Given the description of an element on the screen output the (x, y) to click on. 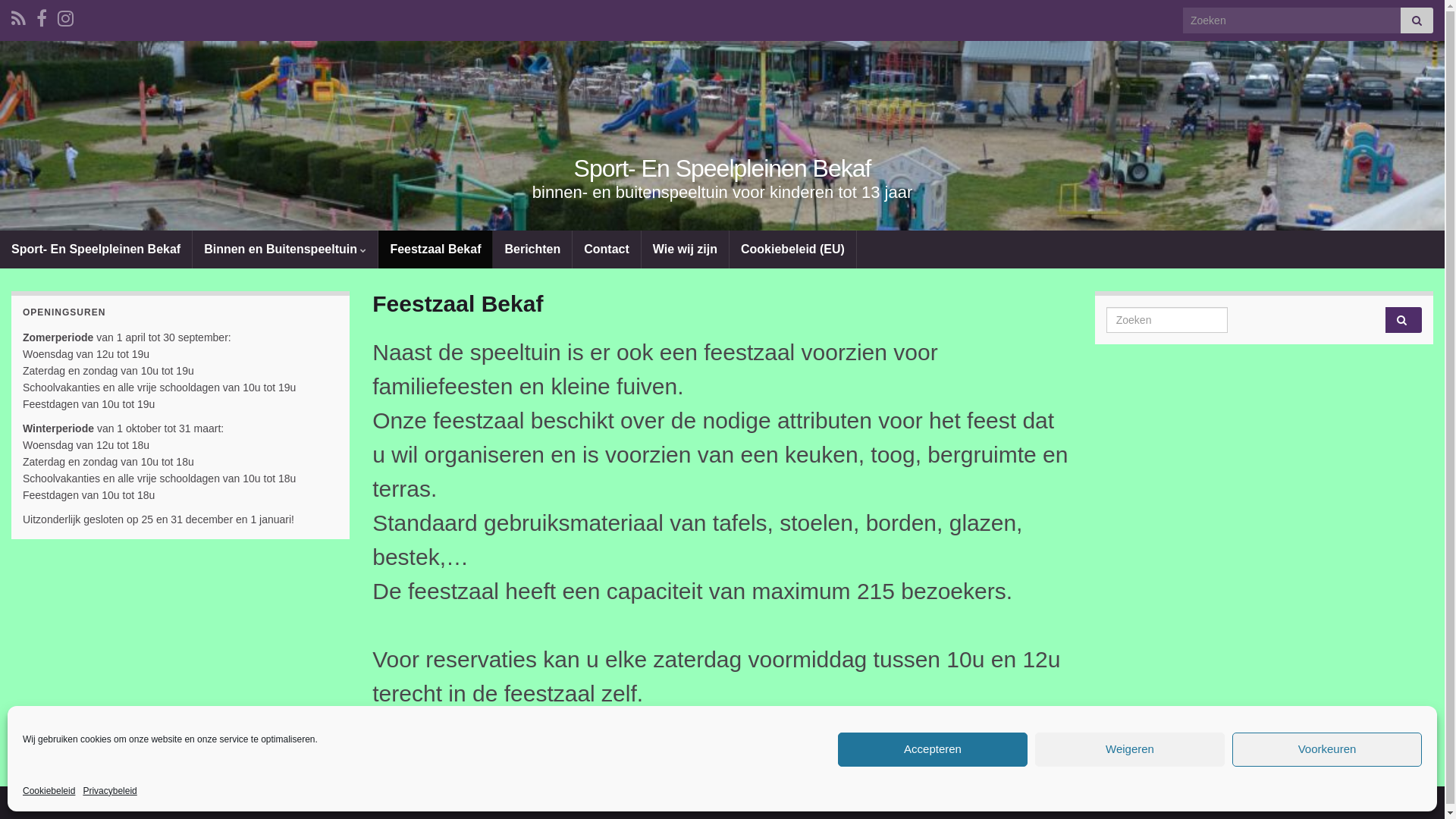
Berichten Element type: text (531, 249)
cropped-DSC_0277-scaled-1.jpg Element type: hover (722, 194)
Wie wij zijn Element type: text (684, 249)
Voorkeuren Element type: text (1326, 749)
Sport- En Speelpleinen Bekaf Element type: text (95, 249)
Feestzaal Bekaf Element type: text (435, 249)
Accepteren Element type: text (932, 749)
Weigeren Element type: text (1129, 749)
Privacybeleid Element type: text (109, 790)
contactformulier Element type: text (939, 727)
Cookiebeleid (EU) Element type: text (792, 249)
Cookiebeleid Element type: text (48, 790)
Contact Element type: text (606, 249)
Binnen en Buitenspeeltuin Element type: text (284, 249)
Facebook Element type: hover (41, 16)
Instagram Element type: hover (65, 16)
Abboneer op de RSS-feed van Sport- En Speelpleinen Bekaf Element type: hover (18, 16)
Sport- En Speelpleinen Bekaf Element type: text (722, 168)
